Given the description of an element on the screen output the (x, y) to click on. 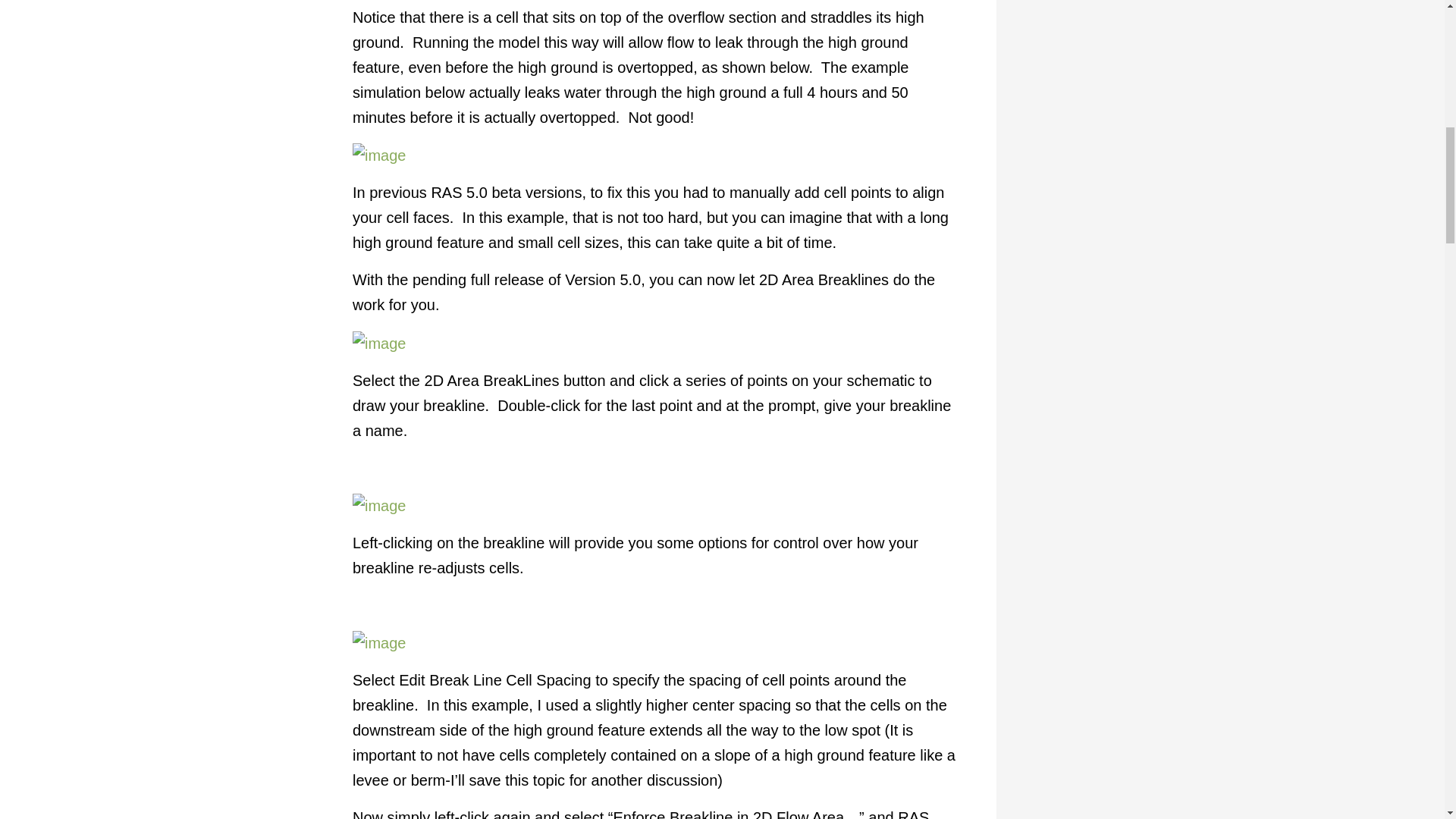
image (379, 643)
image (379, 343)
image (379, 155)
image (379, 505)
